Given the description of an element on the screen output the (x, y) to click on. 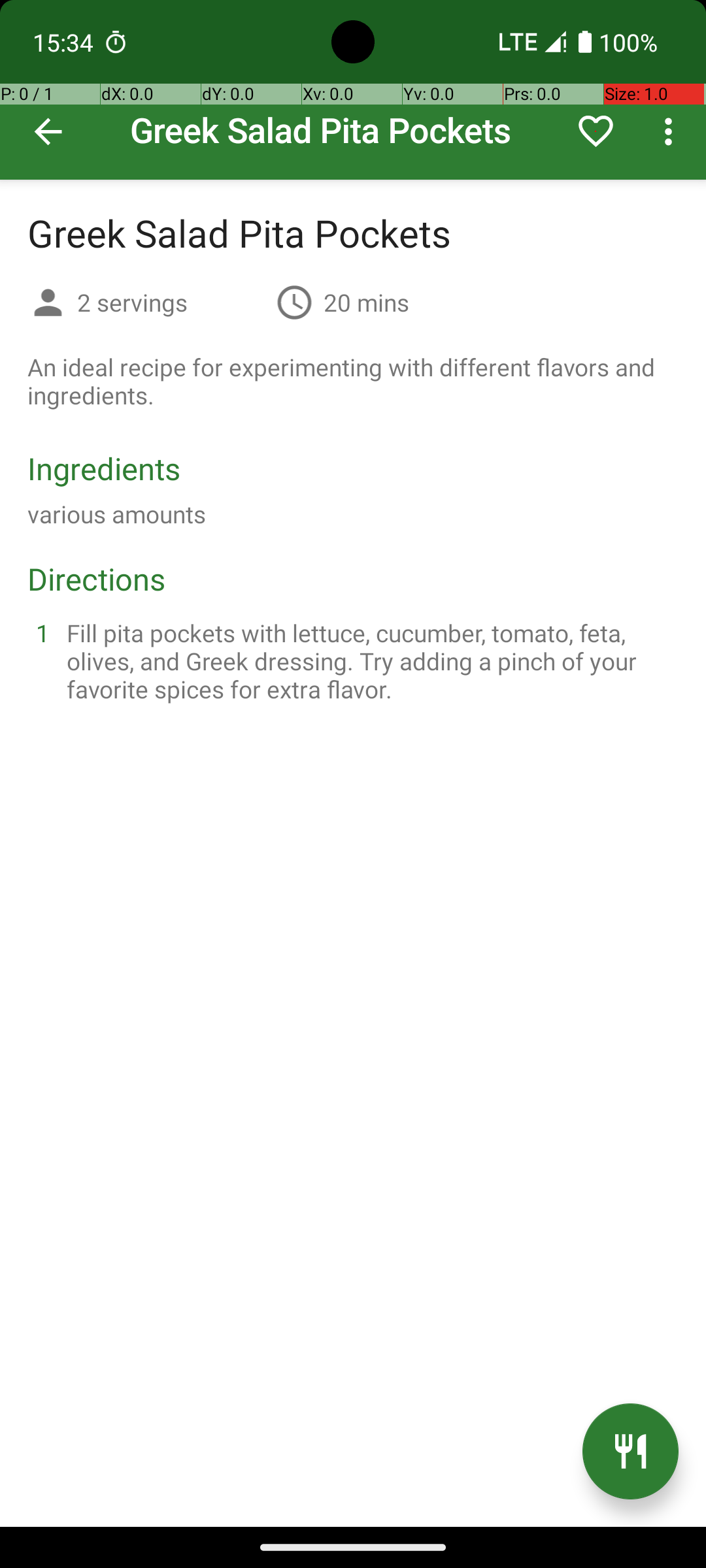
Fill pita pockets with lettuce, cucumber, tomato, feta, olives, and Greek dressing. Try adding a pinch of your favorite spices for extra flavor. Element type: android.widget.TextView (368, 660)
